Given the description of an element on the screen output the (x, y) to click on. 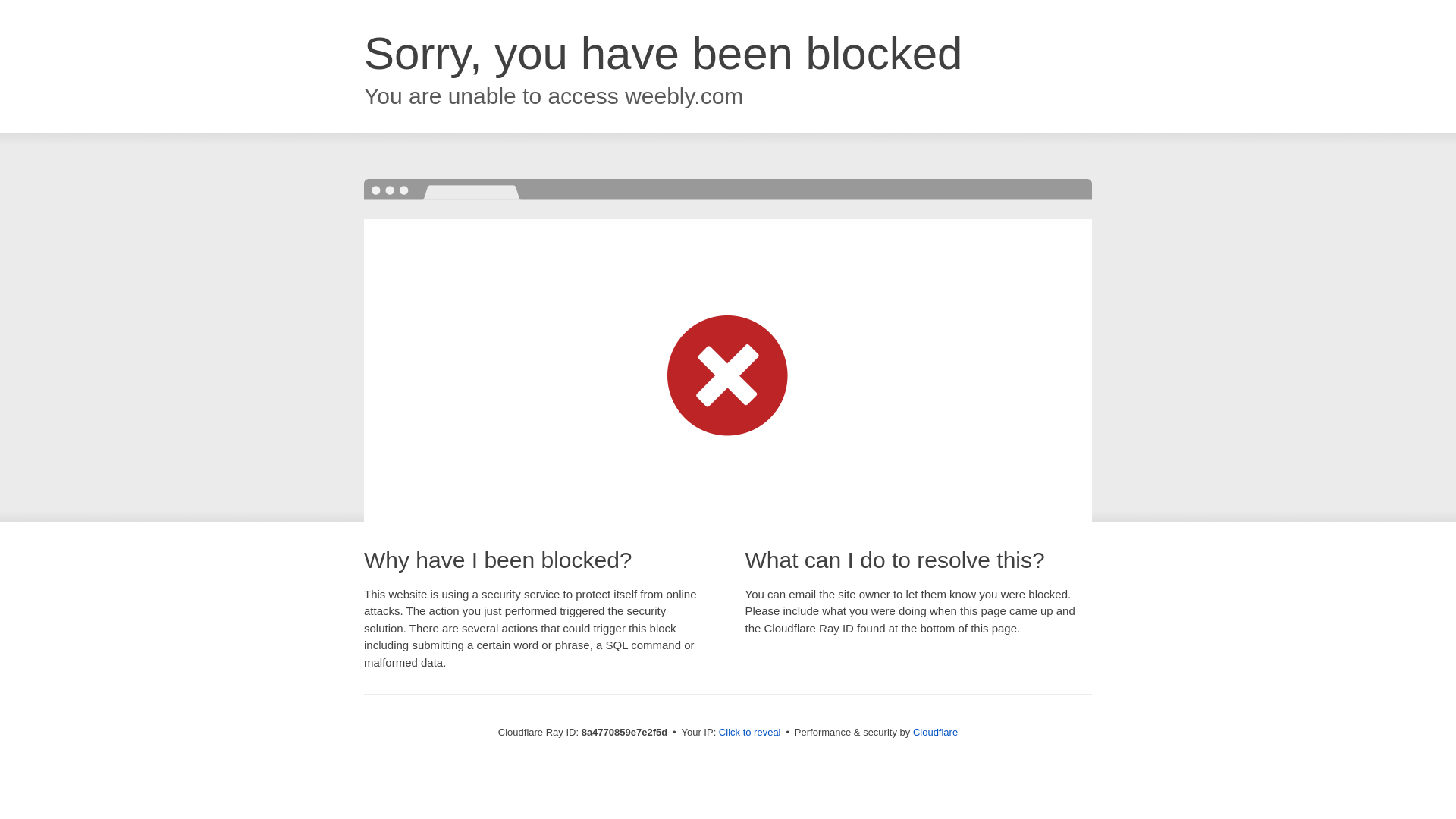
Click to reveal (749, 732)
Cloudflare (935, 731)
